Given the description of an element on the screen output the (x, y) to click on. 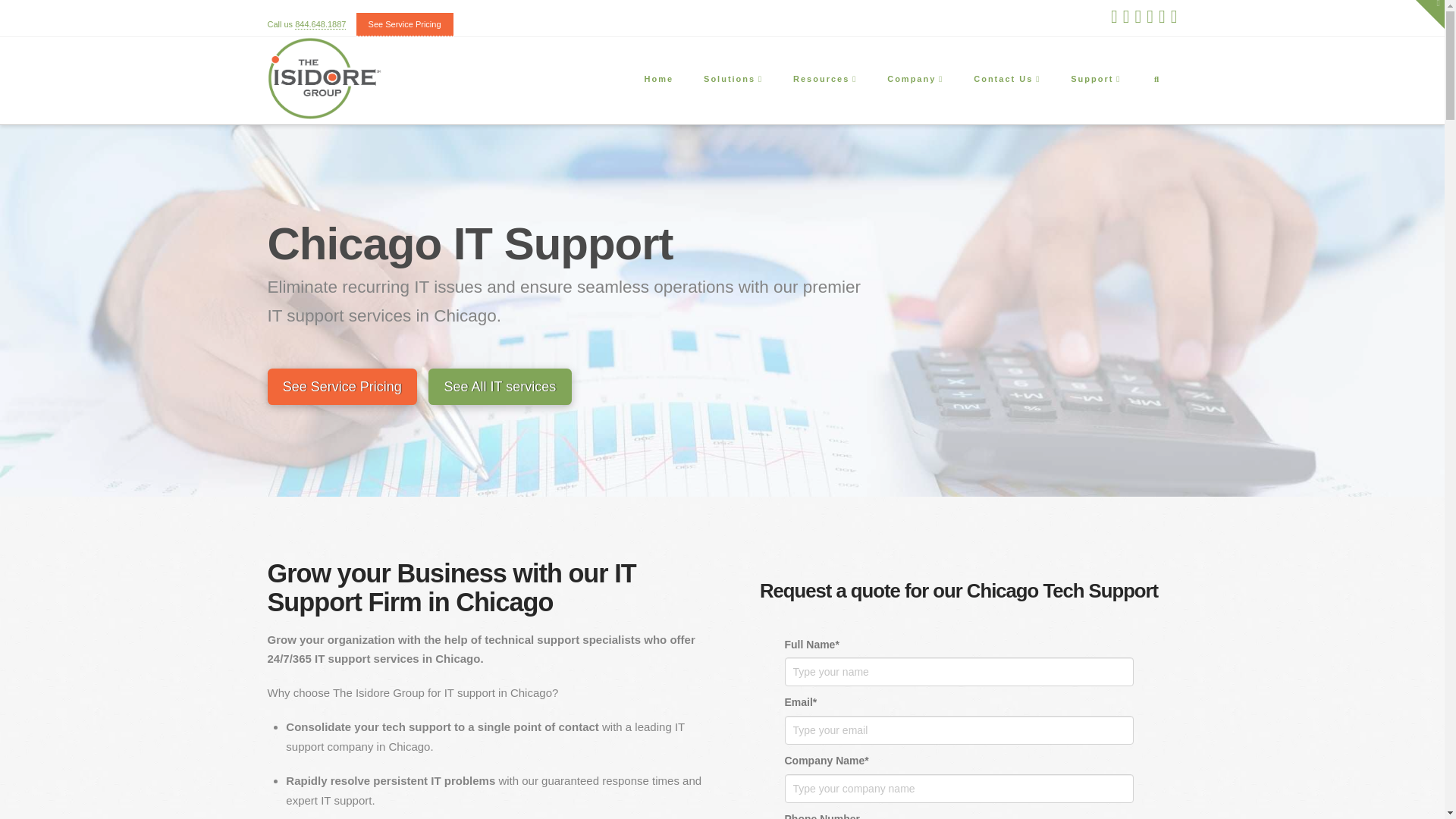
Company (914, 80)
Support (1094, 80)
Resources (823, 80)
Solutions (732, 80)
844.648.1887 (320, 24)
See Service Pricing (404, 24)
Contact Us (1006, 80)
